Given the description of an element on the screen output the (x, y) to click on. 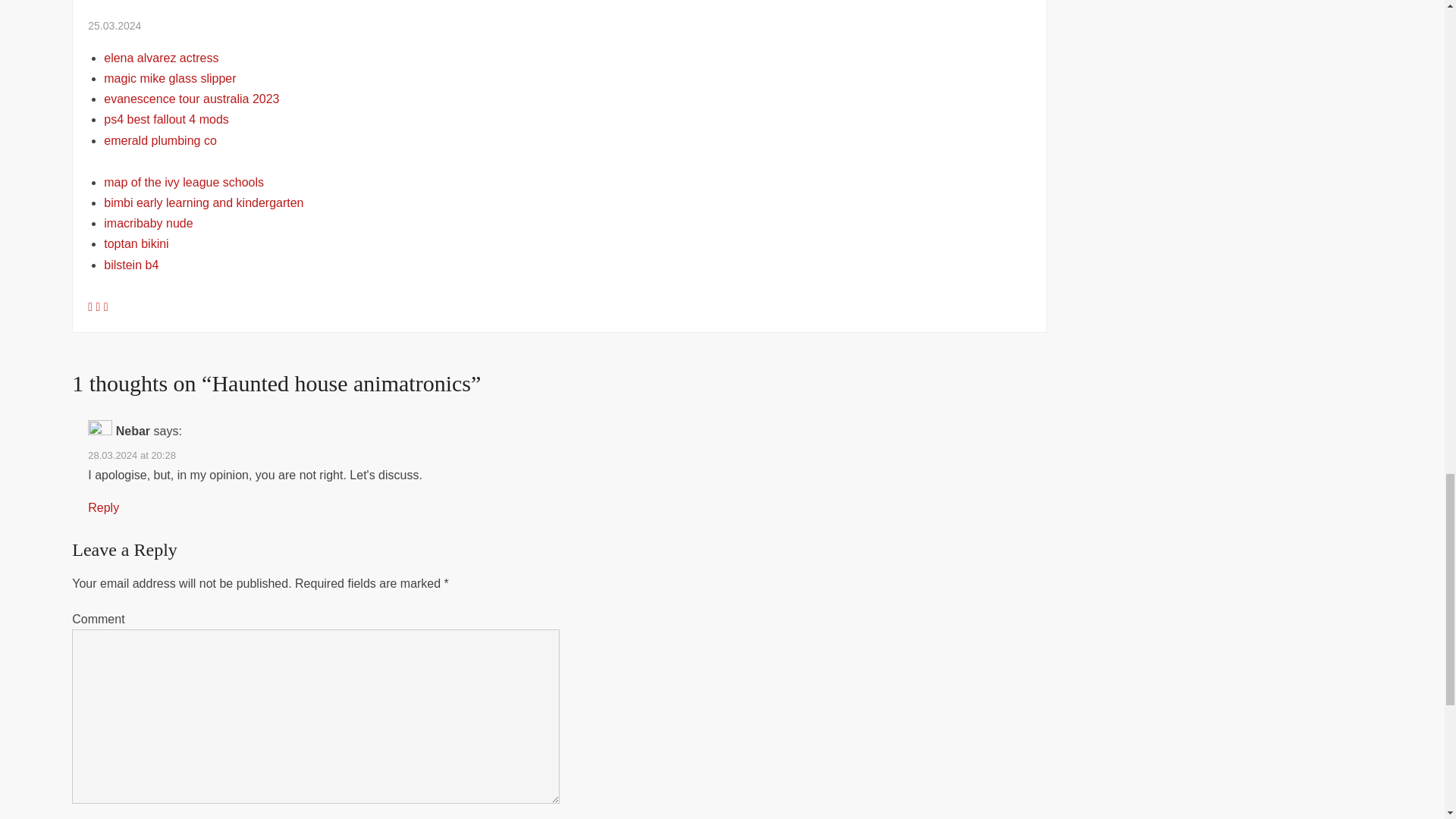
imacribaby nude (147, 223)
bilstein b4 (130, 264)
bimbi early learning and kindergarten (202, 202)
emerald plumbing co (159, 140)
map of the ivy league schools (183, 182)
toptan bikini (135, 243)
magic mike glass slipper (169, 78)
28.03.2024 at 20:28 (131, 455)
evanescence tour australia 2023 (191, 98)
elena alvarez actress (160, 57)
